Given the description of an element on the screen output the (x, y) to click on. 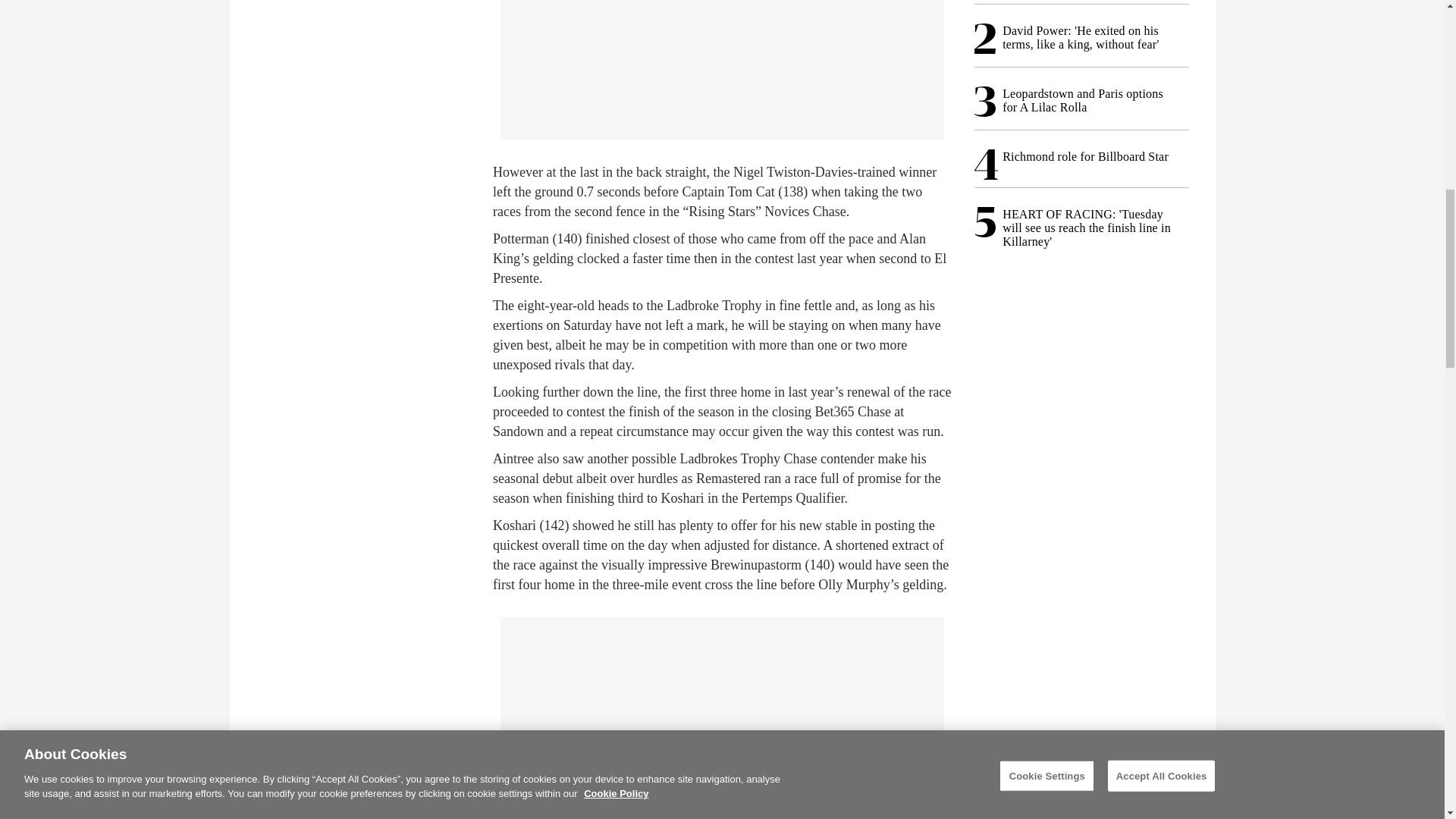
3rd party ad content (721, 711)
3rd party ad content (721, 69)
